Given the description of an element on the screen output the (x, y) to click on. 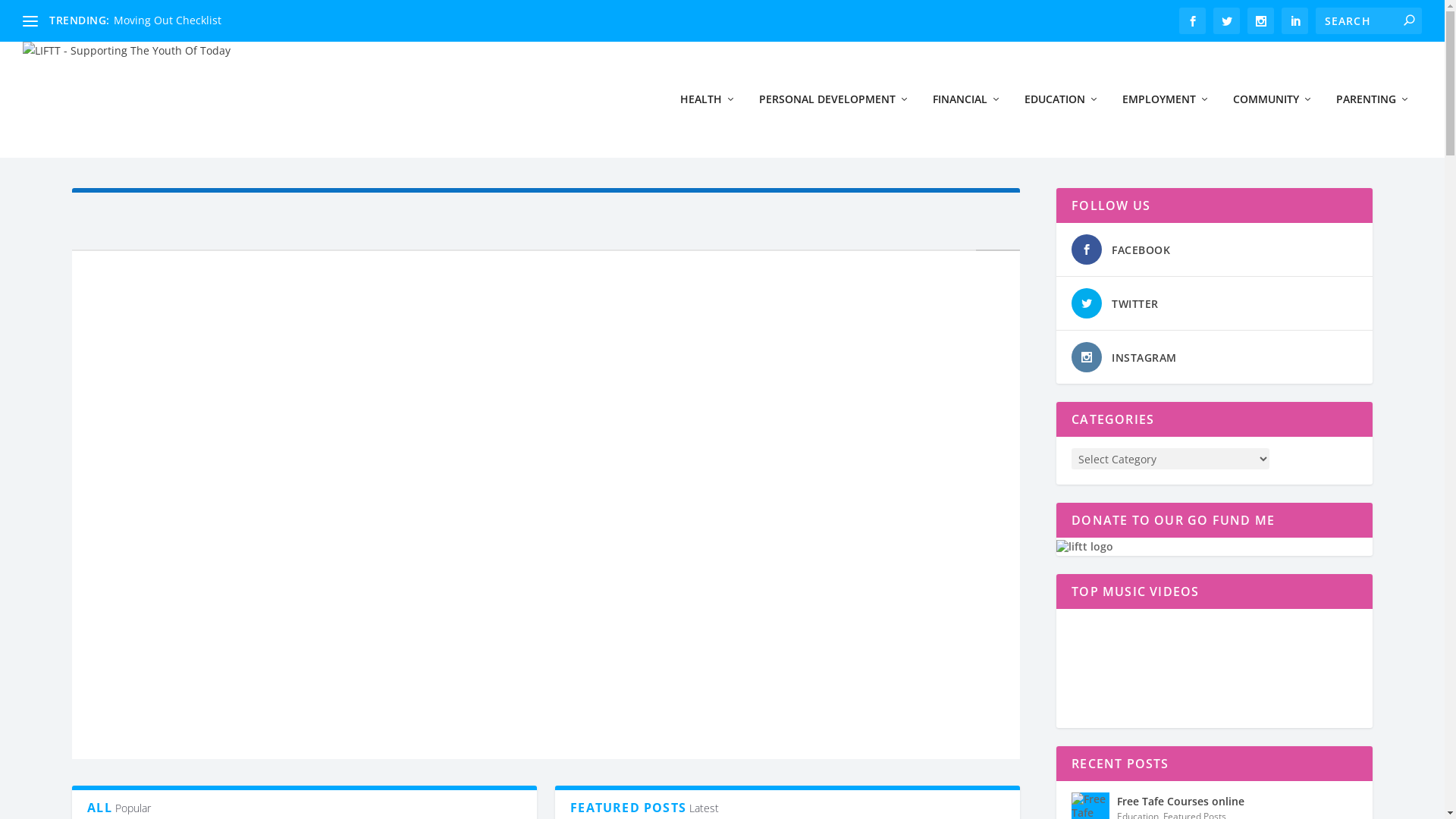
FACEBOOK Element type: text (1140, 249)
PERSONAL DEVELOPMENT Element type: text (834, 124)
Vevo Hot ThIs Week 2023 Element type: hover (1169, 665)
Search for: Element type: hover (1368, 20)
FINANCIAL Element type: text (966, 124)
INSTAGRAM Element type: text (1143, 357)
TWITTER Element type: text (1134, 303)
PARENTING Element type: text (1373, 124)
Free Tafe Courses online Element type: text (1180, 801)
EDUCATION Element type: text (1061, 124)
COMMUNITY Element type: text (1273, 124)
EMPLOYMENT Element type: text (1166, 124)
How to comfort a grieving teen Element type: text (191, 19)
HEALTH Element type: text (708, 124)
